Given the description of an element on the screen output the (x, y) to click on. 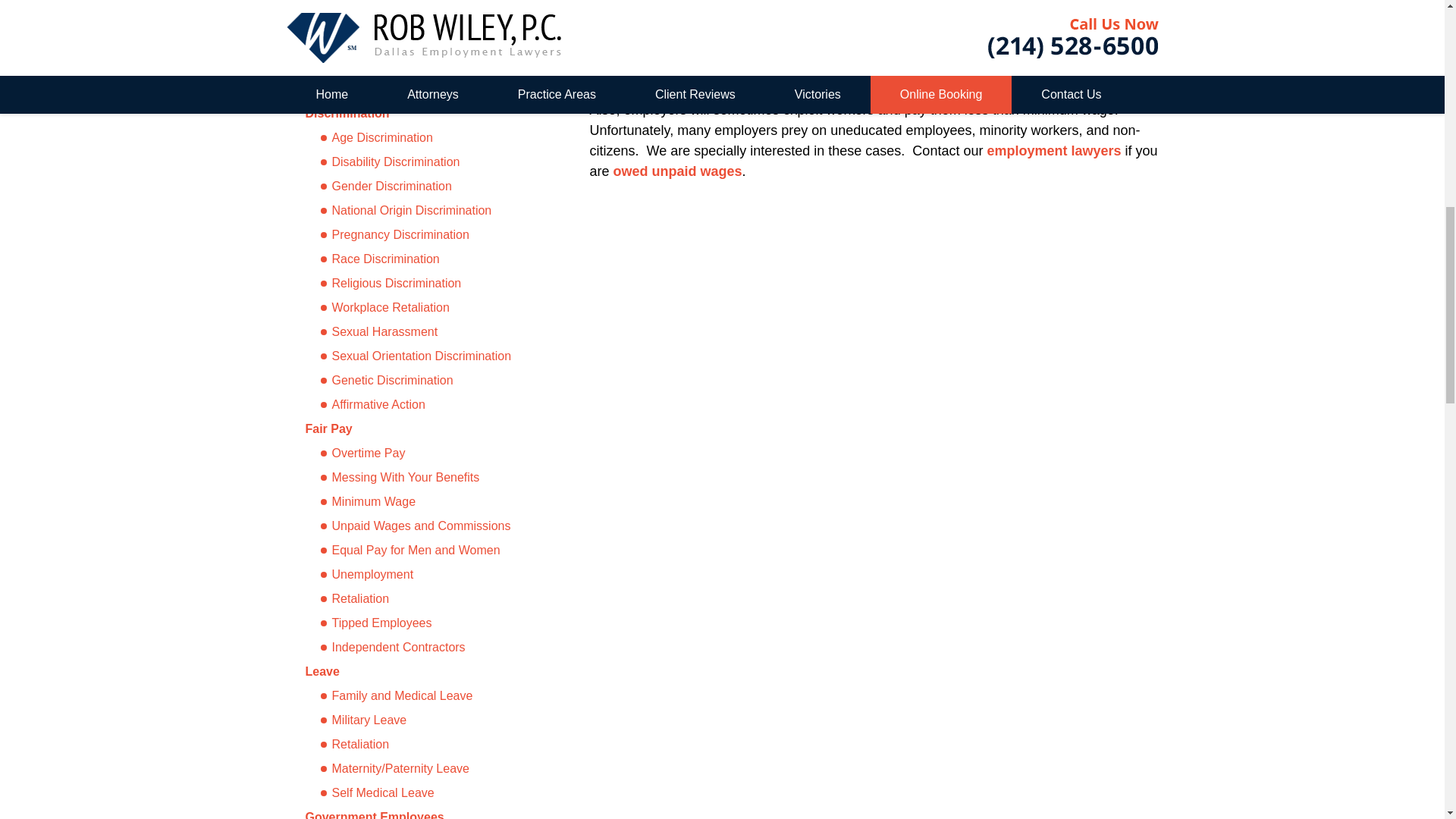
Minimum Wage (426, 502)
Age Discrimination (426, 137)
Pregnancy Discrimination (426, 235)
Messing With Your Benefits (426, 477)
Sexual Harassment (426, 331)
Sexual Orientation Discrimination (426, 356)
Practice Areas (363, 81)
Discrimination (346, 113)
owed unpaid wages (677, 171)
Overtime Pay (426, 453)
